Given the description of an element on the screen output the (x, y) to click on. 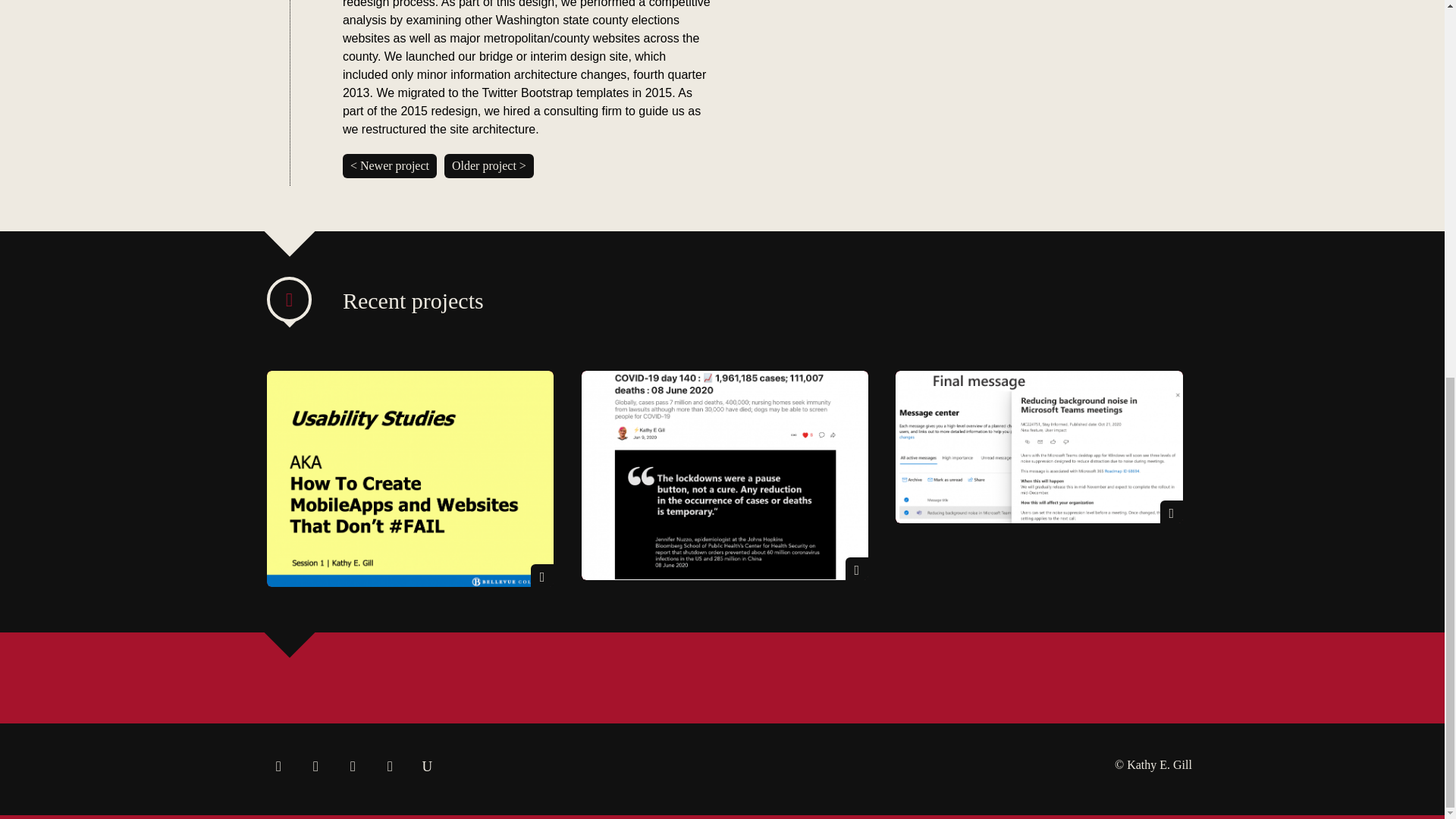
kathygill - facebook (315, 766)
kegill - flickr (352, 766)
kegill - linkedin (389, 766)
kegill - twitter (277, 766)
